Given the description of an element on the screen output the (x, y) to click on. 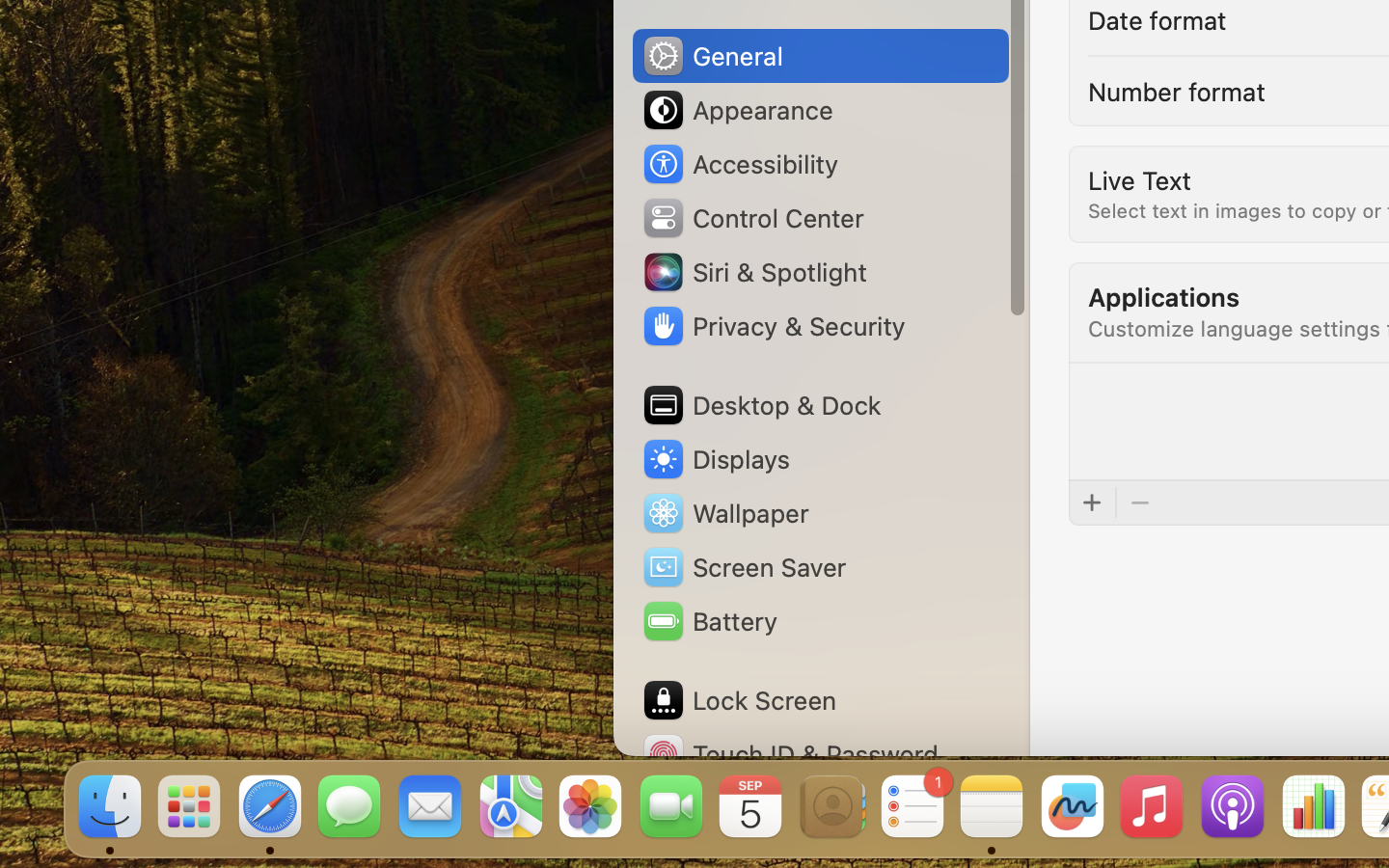
Live Text Element type: AXStaticText (1139, 178)
Accessibility Element type: AXStaticText (739, 163)
Appearance Element type: AXStaticText (736, 109)
Screen Saver Element type: AXStaticText (743, 566)
Battery Element type: AXStaticText (708, 620)
